Given the description of an element on the screen output the (x, y) to click on. 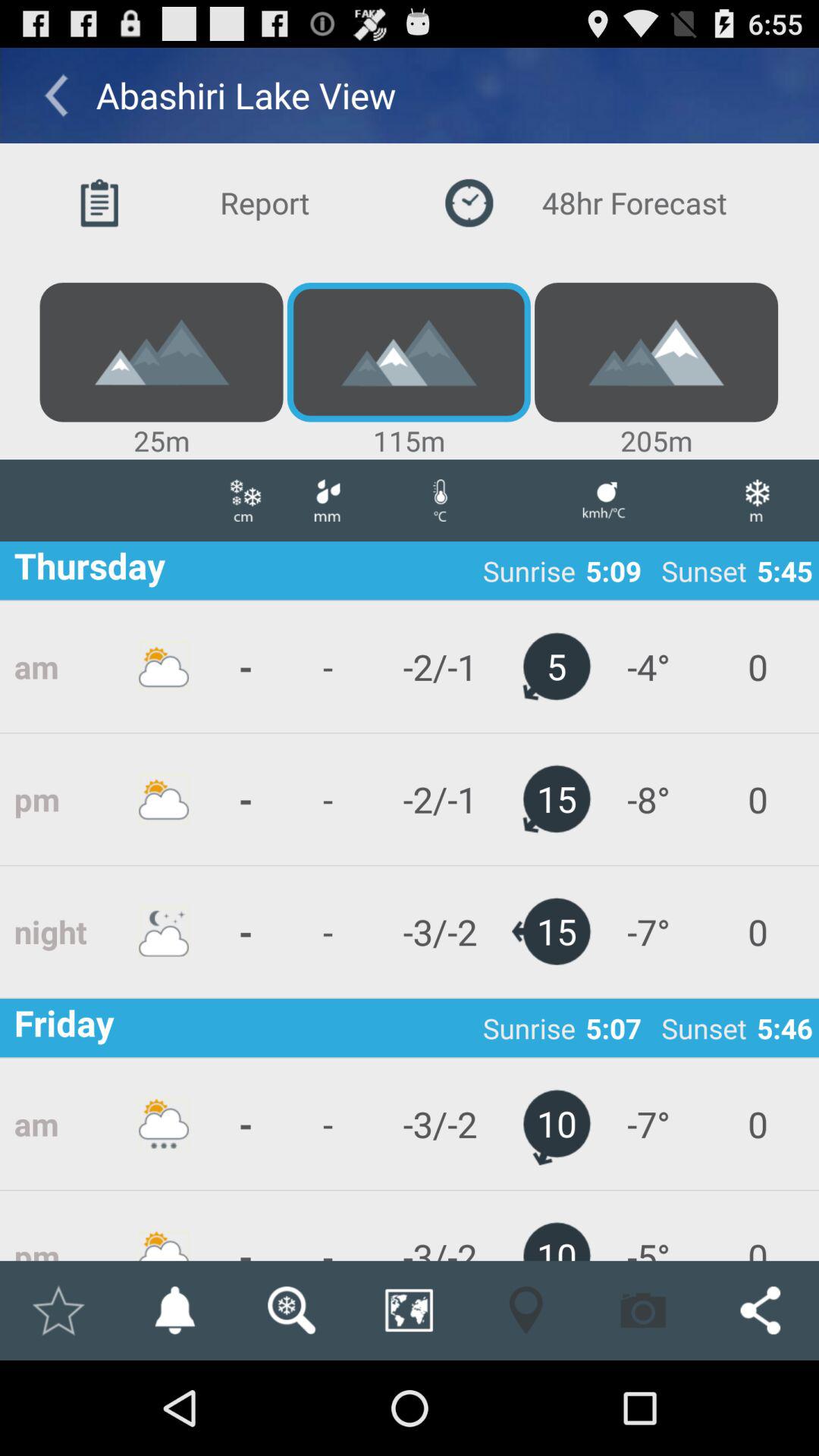
search for another location (291, 1310)
